Given the description of an element on the screen output the (x, y) to click on. 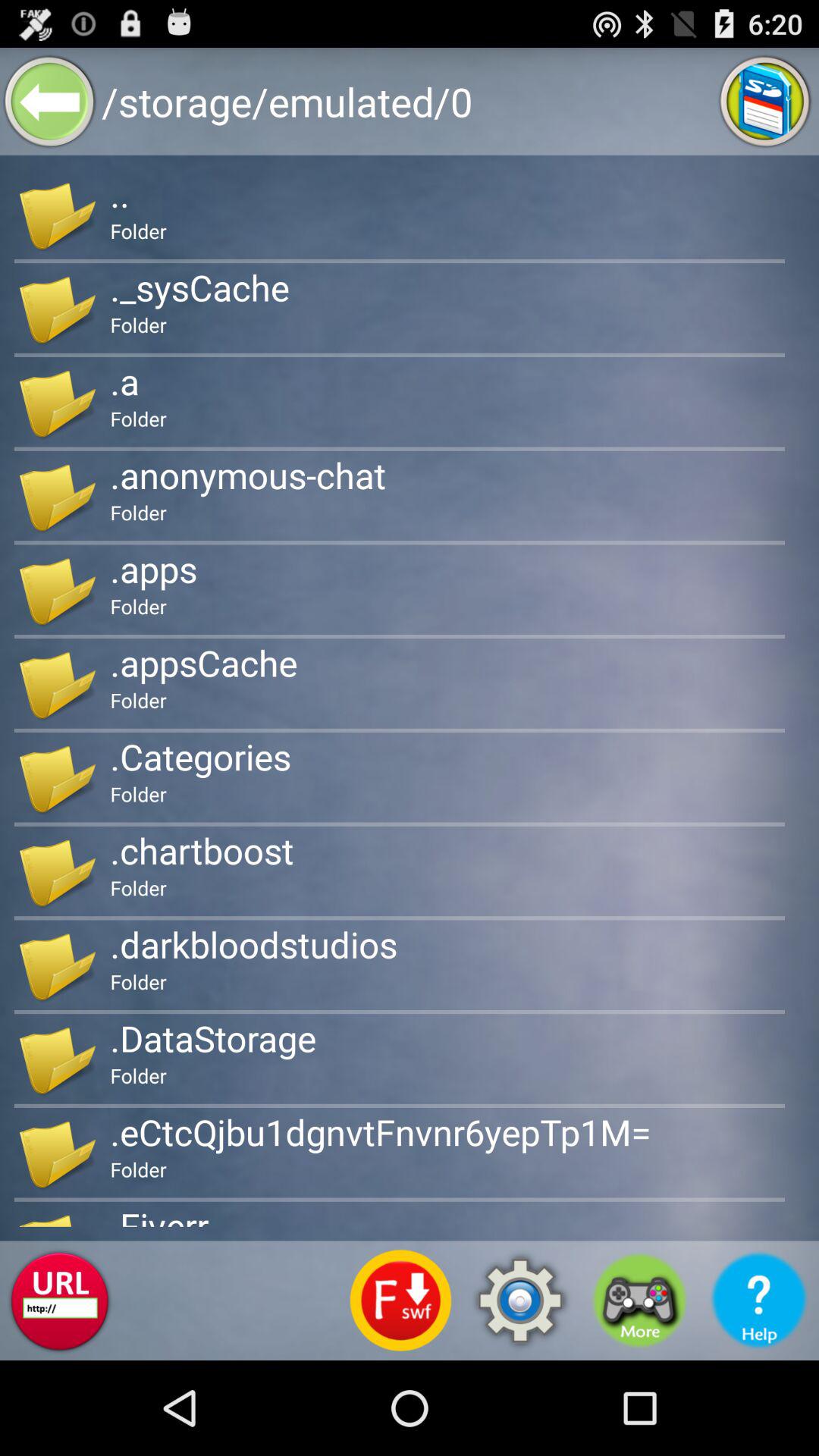
press .chartboost item (202, 850)
